Given the description of an element on the screen output the (x, y) to click on. 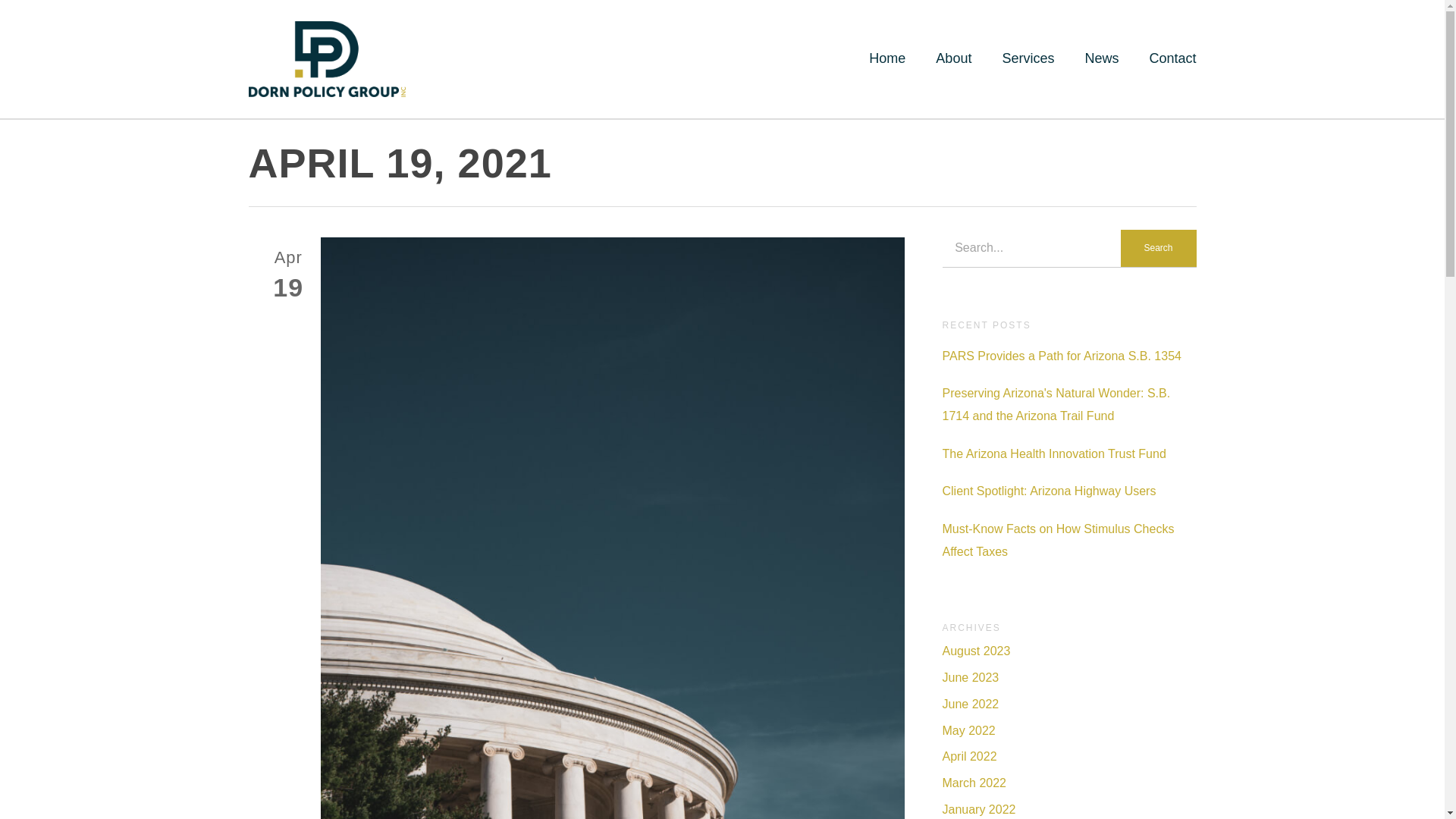
About (953, 58)
Home (887, 58)
News (1101, 58)
Services (1027, 58)
Contact (1171, 58)
Apr (288, 257)
